Given the description of an element on the screen output the (x, y) to click on. 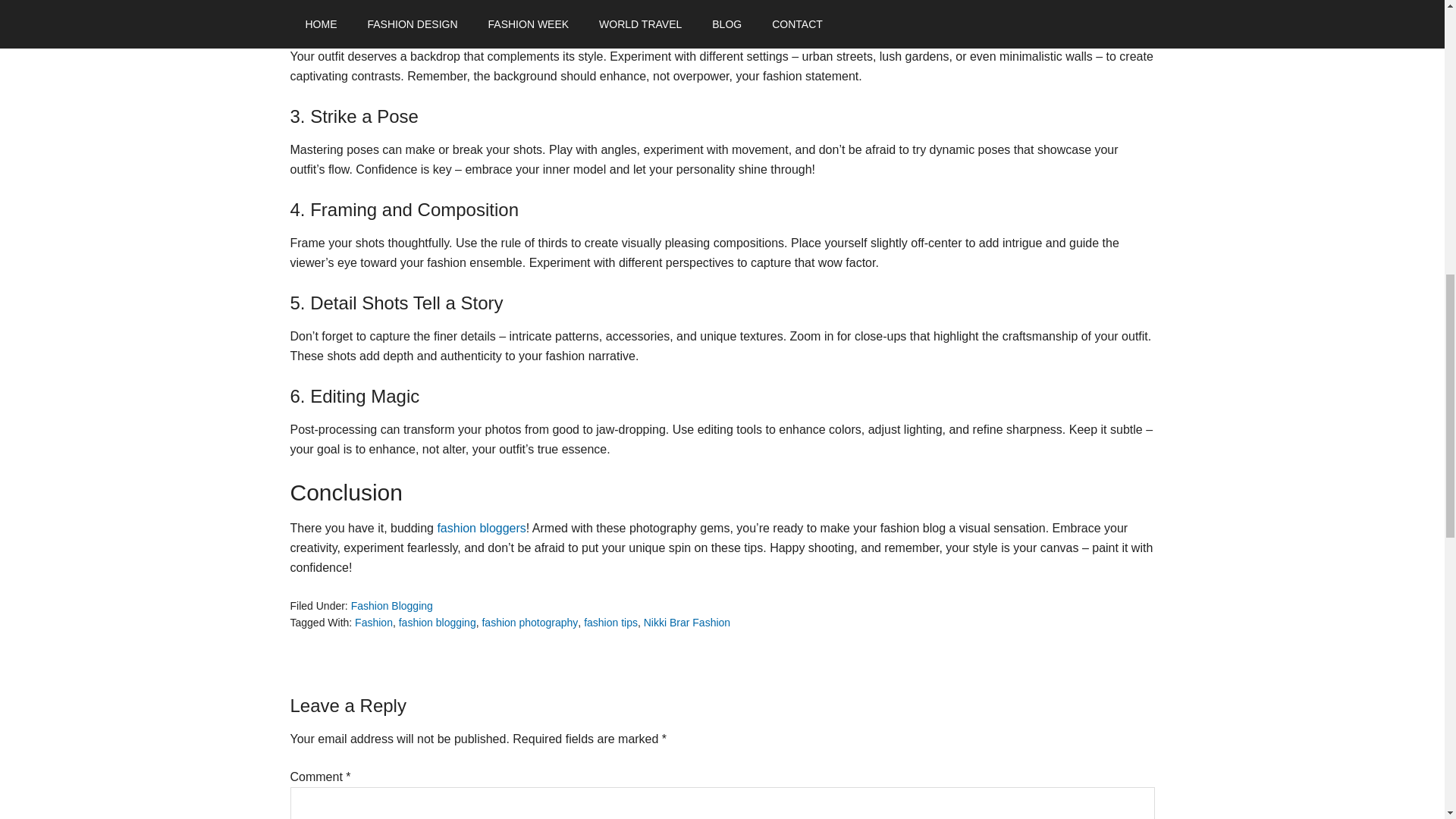
fashion tips (610, 622)
fashion photography (529, 622)
fashion blogging (437, 622)
Fashion Blogging (391, 605)
Fashion (374, 622)
Nikki Brar Fashion (686, 622)
fashion bloggers (480, 527)
